Given the description of an element on the screen output the (x, y) to click on. 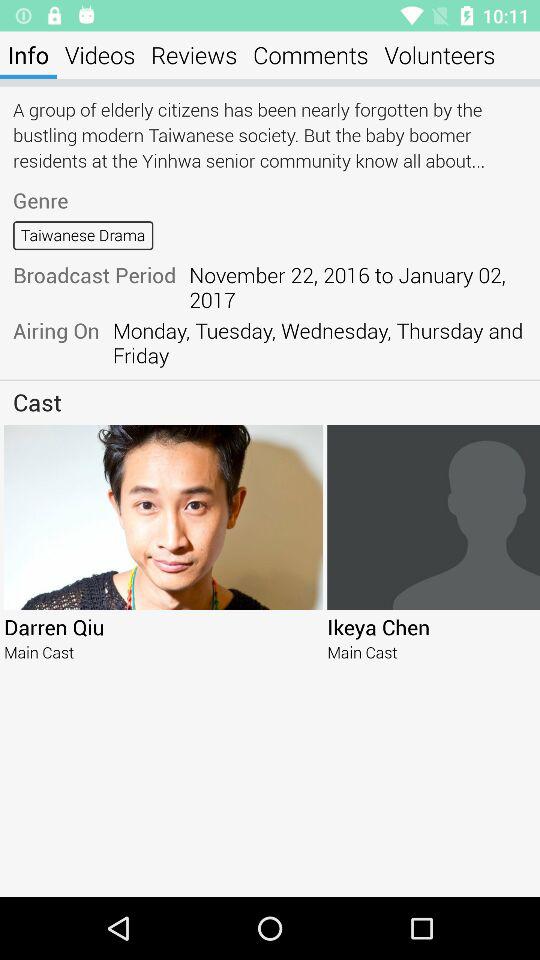
tap the info (28, 54)
